Given the description of an element on the screen output the (x, y) to click on. 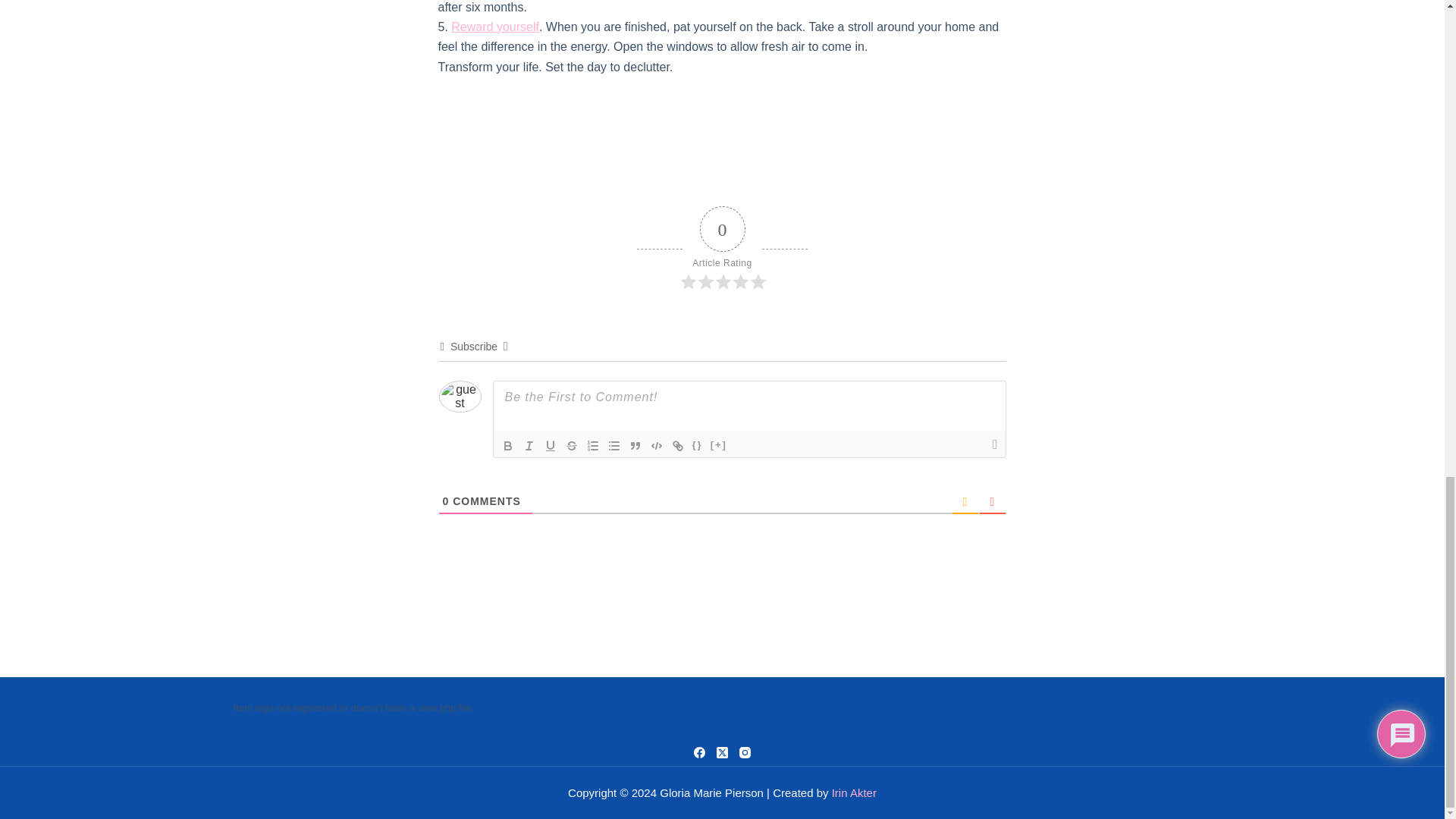
Blockquote (635, 445)
Ordered List (593, 445)
Strike (571, 445)
Link (677, 445)
Code Block (656, 445)
Unordered List (614, 445)
How to Make the Impossible Possible (494, 26)
Underline (550, 445)
Bold (507, 445)
Italic (529, 445)
